Given the description of an element on the screen output the (x, y) to click on. 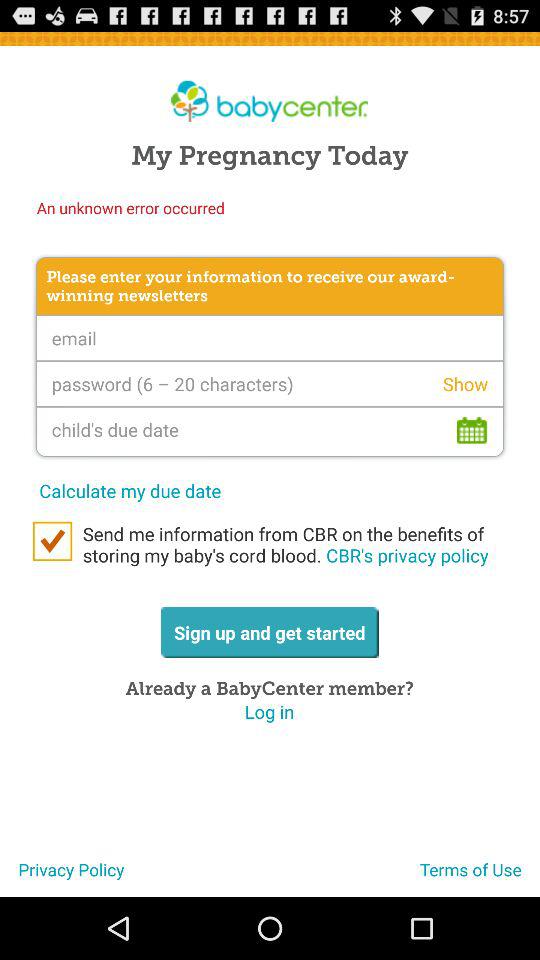
password typifying option (270, 383)
